Given the description of an element on the screen output the (x, y) to click on. 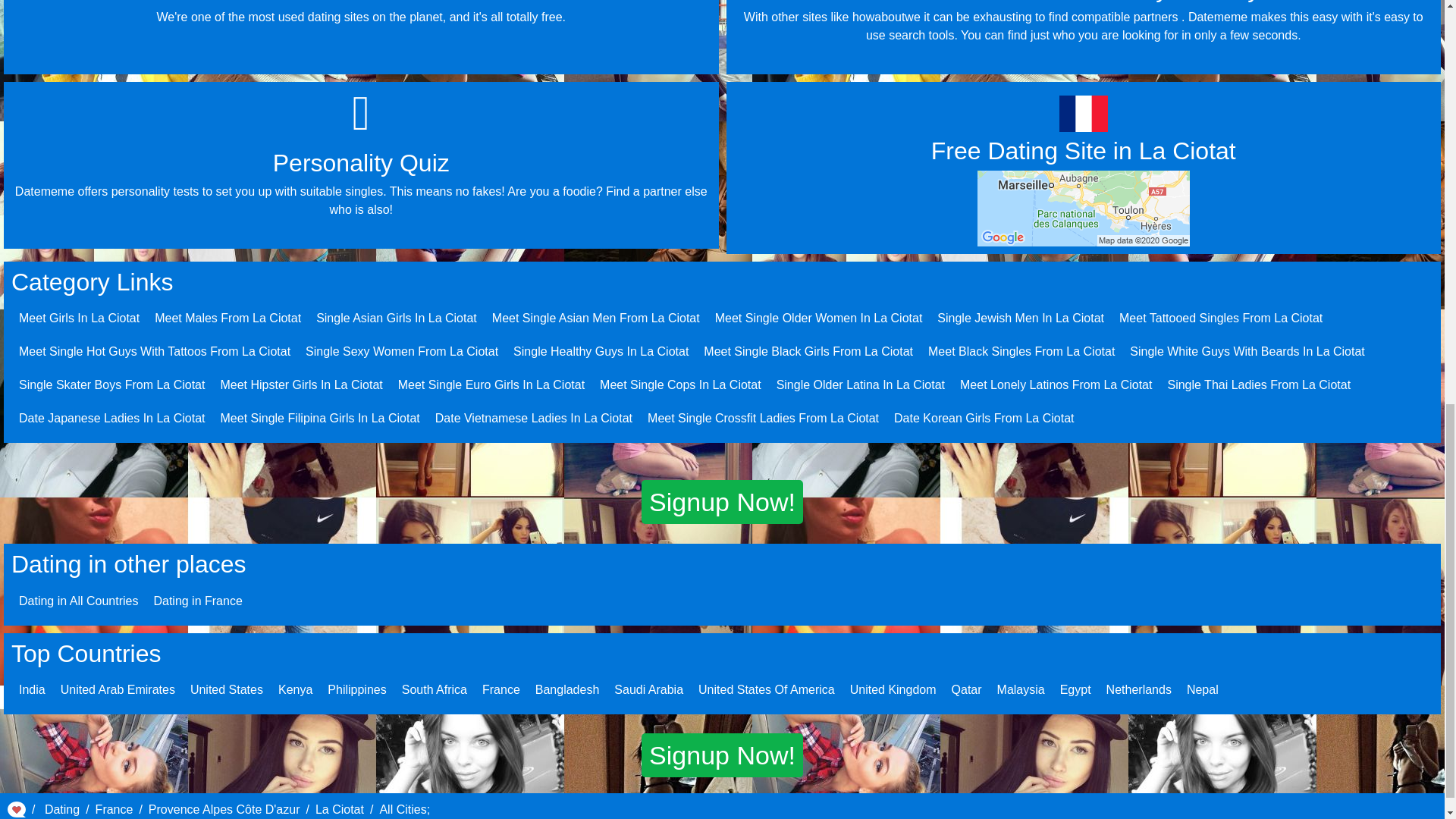
Single Asian Girls In La Ciotat (396, 318)
Meet Girls In La Ciotat (78, 318)
Meet Single Asian Men From La Ciotat (596, 318)
Meet Males From La Ciotat (227, 318)
